Given the description of an element on the screen output the (x, y) to click on. 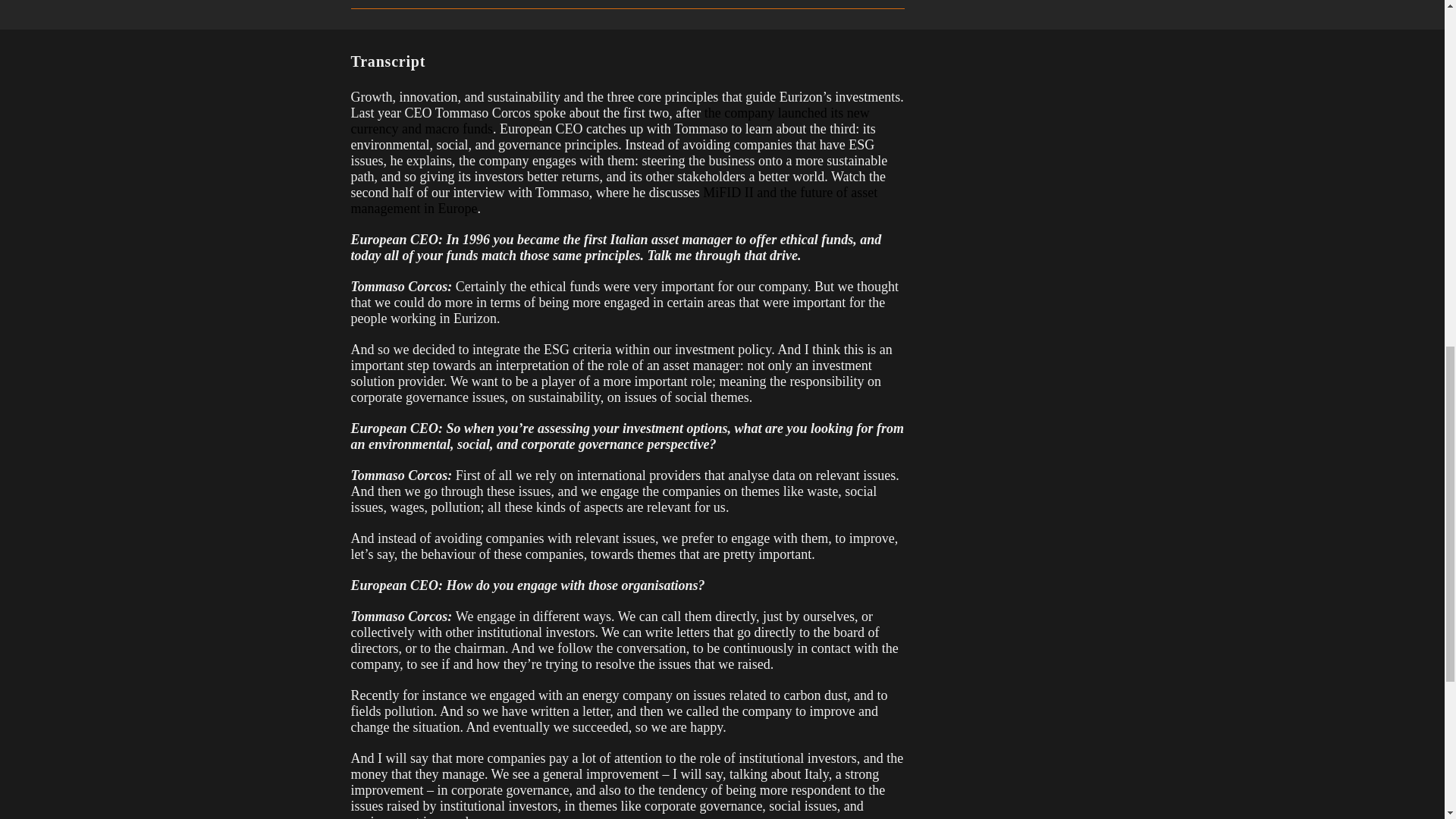
the company launched its new currency and macro funds (609, 120)
MiFID II and the future of asset management in Europe (613, 200)
